Given the description of an element on the screen output the (x, y) to click on. 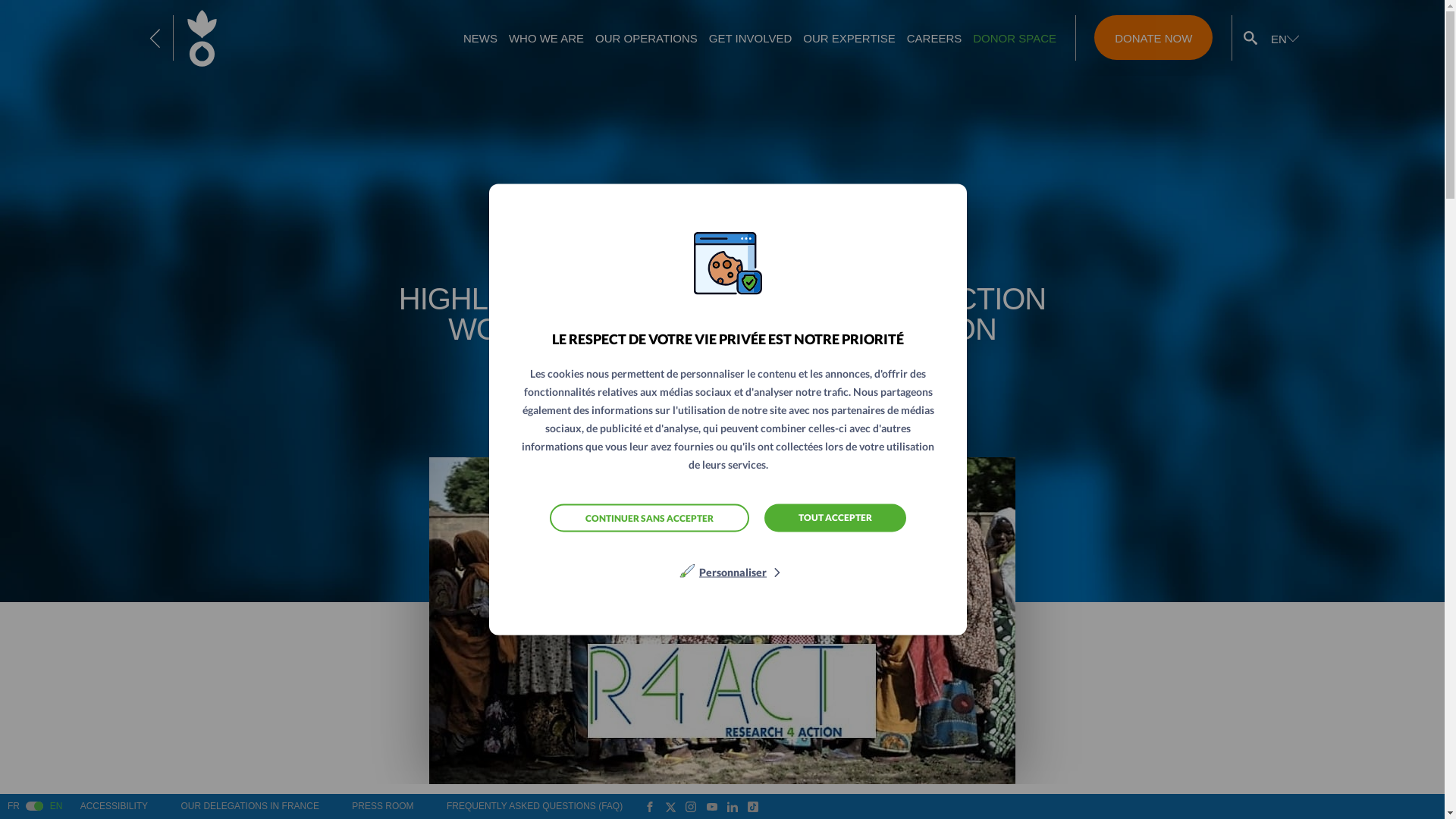
Personnaliser (732, 571)
CONTINUER SANS ACCEPTER (649, 517)
TOUT ACCEPTER (834, 517)
